Given the description of an element on the screen output the (x, y) to click on. 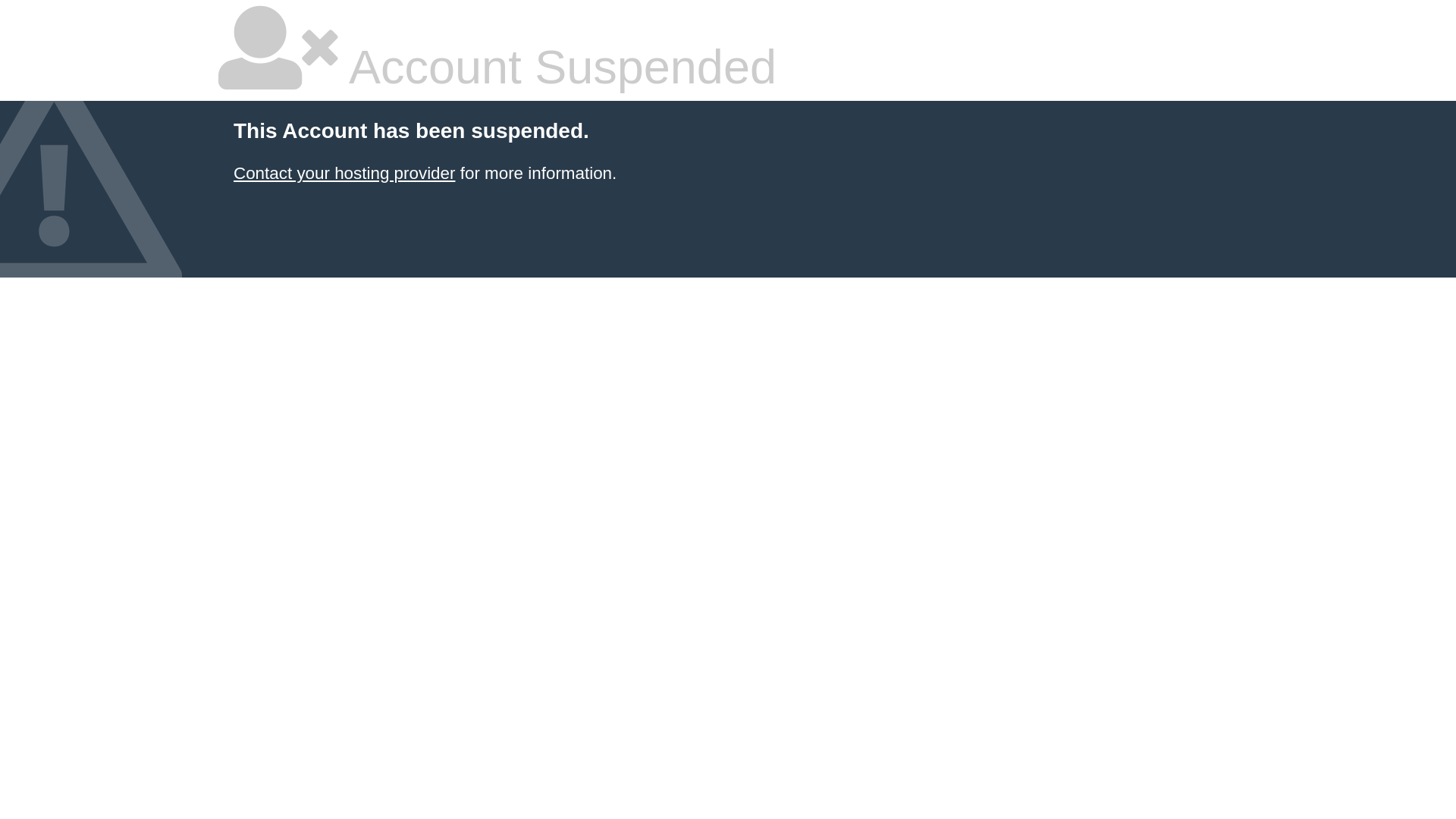
Contact your hosting provider Element type: text (344, 172)
